Given the description of an element on the screen output the (x, y) to click on. 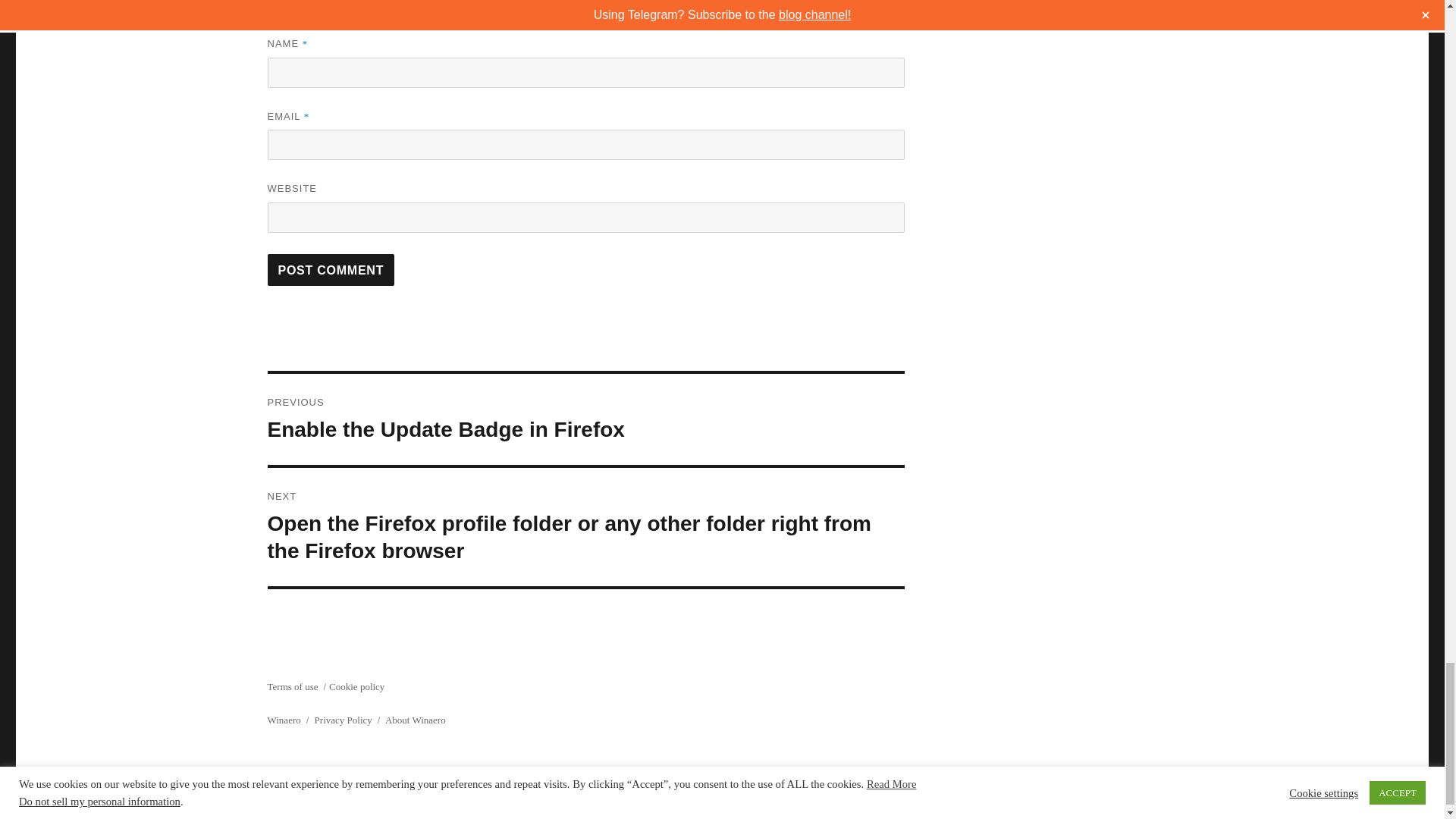
Post Comment (330, 269)
Post Comment (330, 269)
